Given the description of an element on the screen output the (x, y) to click on. 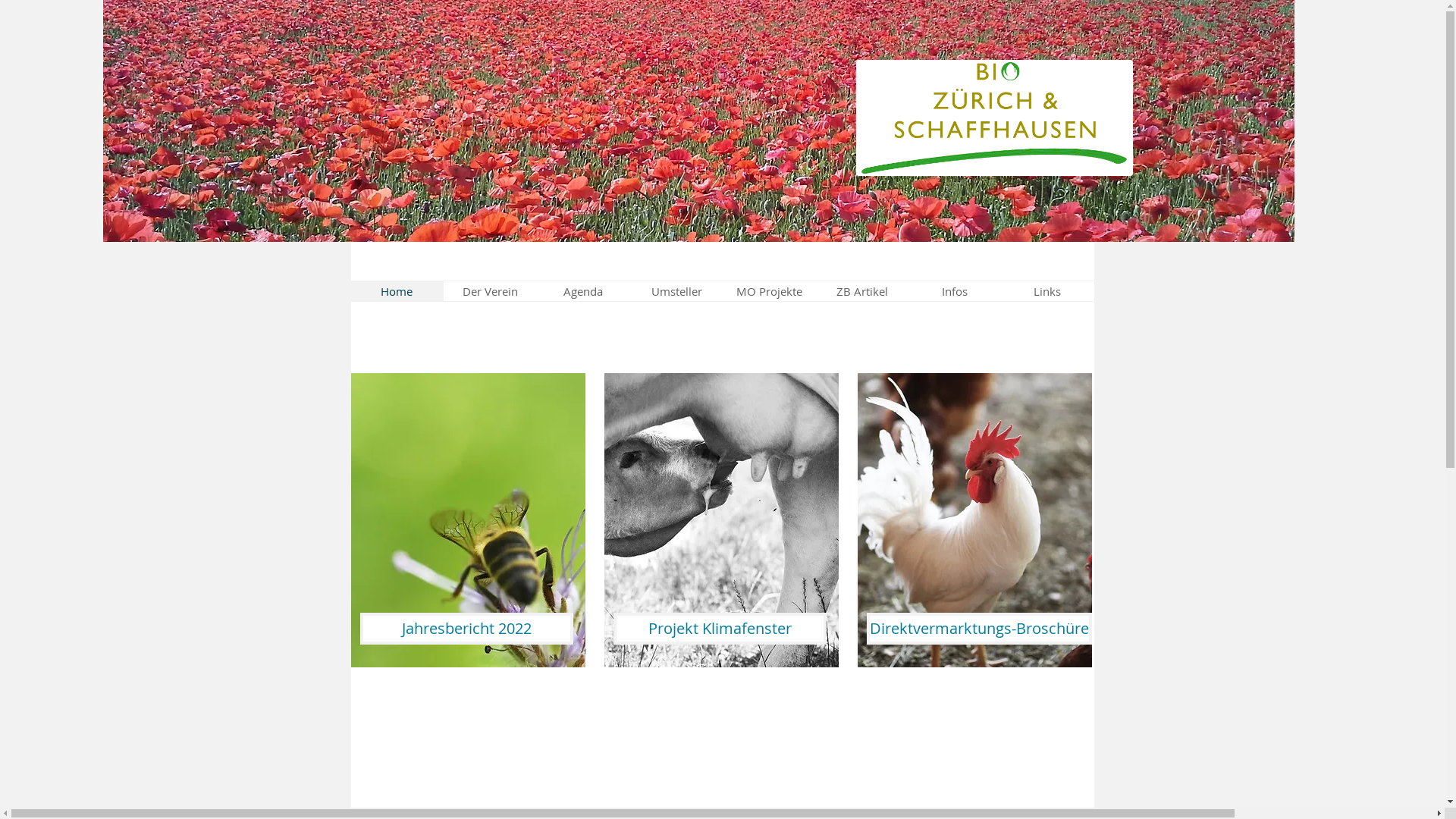
Infos Element type: text (954, 291)
Links Element type: text (1047, 291)
ZB Artikel Element type: text (861, 291)
MO Projekte Element type: text (769, 291)
Umsteller Element type: text (675, 291)
Projekt Klimafenster Element type: text (718, 628)
Agenda Element type: text (583, 291)
Jahresbericht 2022 Element type: text (465, 628)
Home Element type: text (396, 291)
Der Verein Element type: text (489, 291)
